Given the description of an element on the screen output the (x, y) to click on. 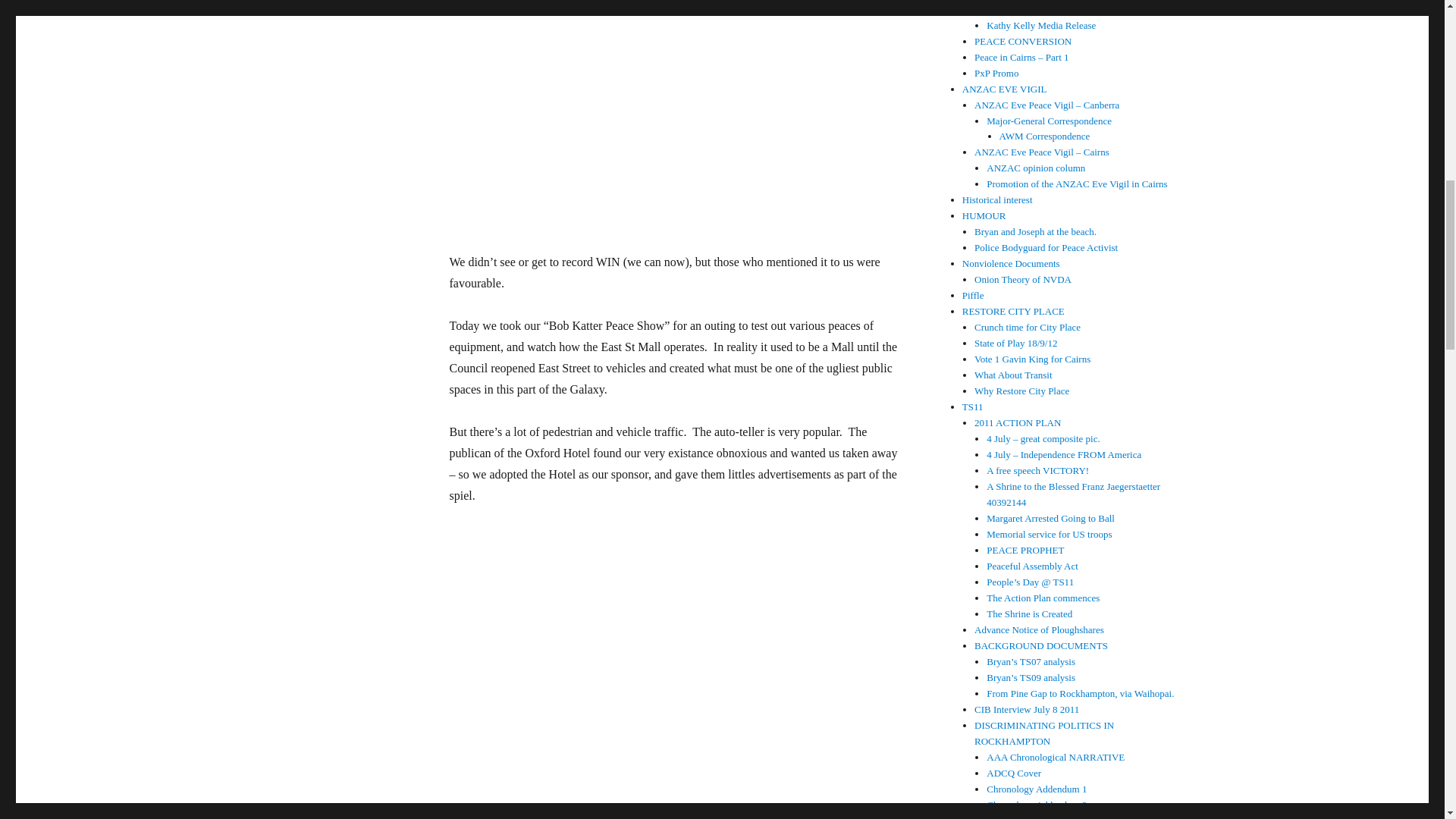
Bryan Katter - small (676, 673)
Airport Law - small (676, 115)
